Given the description of an element on the screen output the (x, y) to click on. 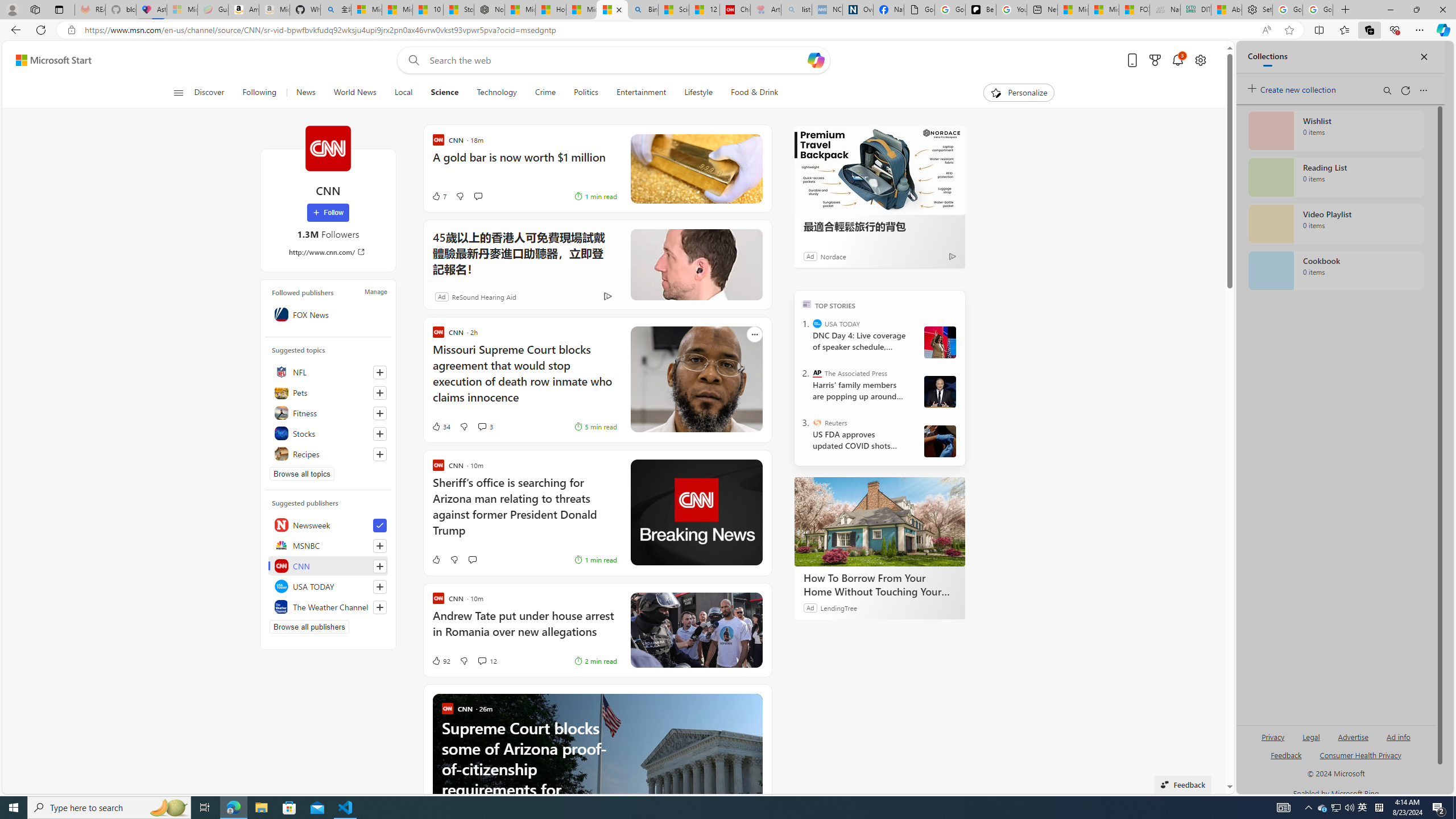
Unfollow this source (379, 525)
MSNBC (327, 545)
A gold bar is now worth $1 million (511, 163)
Follow (328, 212)
LendingTree (838, 607)
FOX News (327, 314)
